Given the description of an element on the screen output the (x, y) to click on. 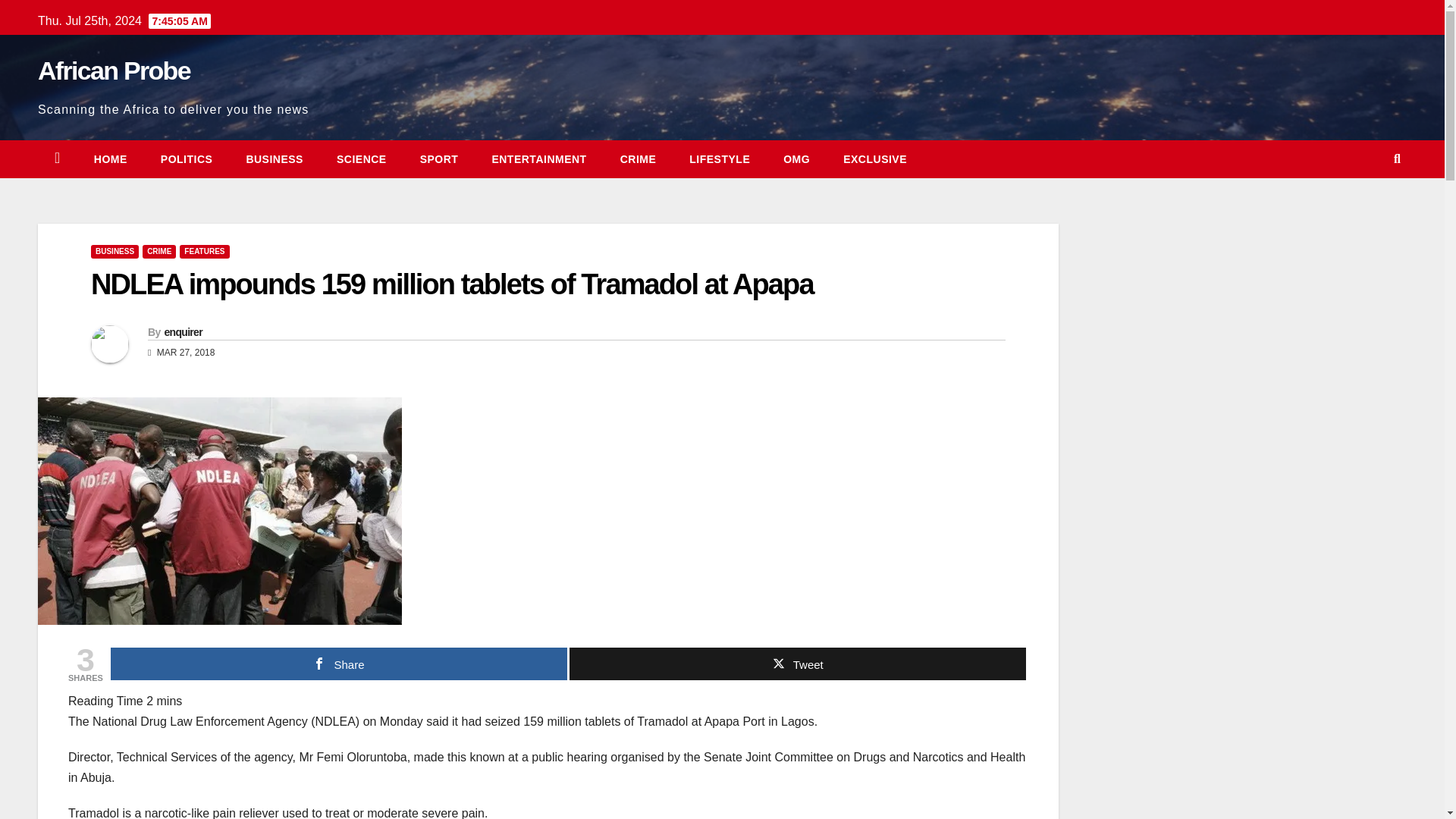
FEATURES (203, 251)
enquirer (182, 331)
LIFESTYLE (719, 159)
SCIENCE (361, 159)
POLITICS (187, 159)
BUSINESS (114, 251)
EXCLUSIVE (875, 159)
ENTERTAINMENT (538, 159)
NDLEA impounds 159 million tablets of Tramadol at Apapa (451, 284)
BUSINESS (274, 159)
BUSINESS (274, 159)
SPORT (439, 159)
OMG (797, 159)
CRIME (159, 251)
HOME (110, 159)
